Given the description of an element on the screen output the (x, y) to click on. 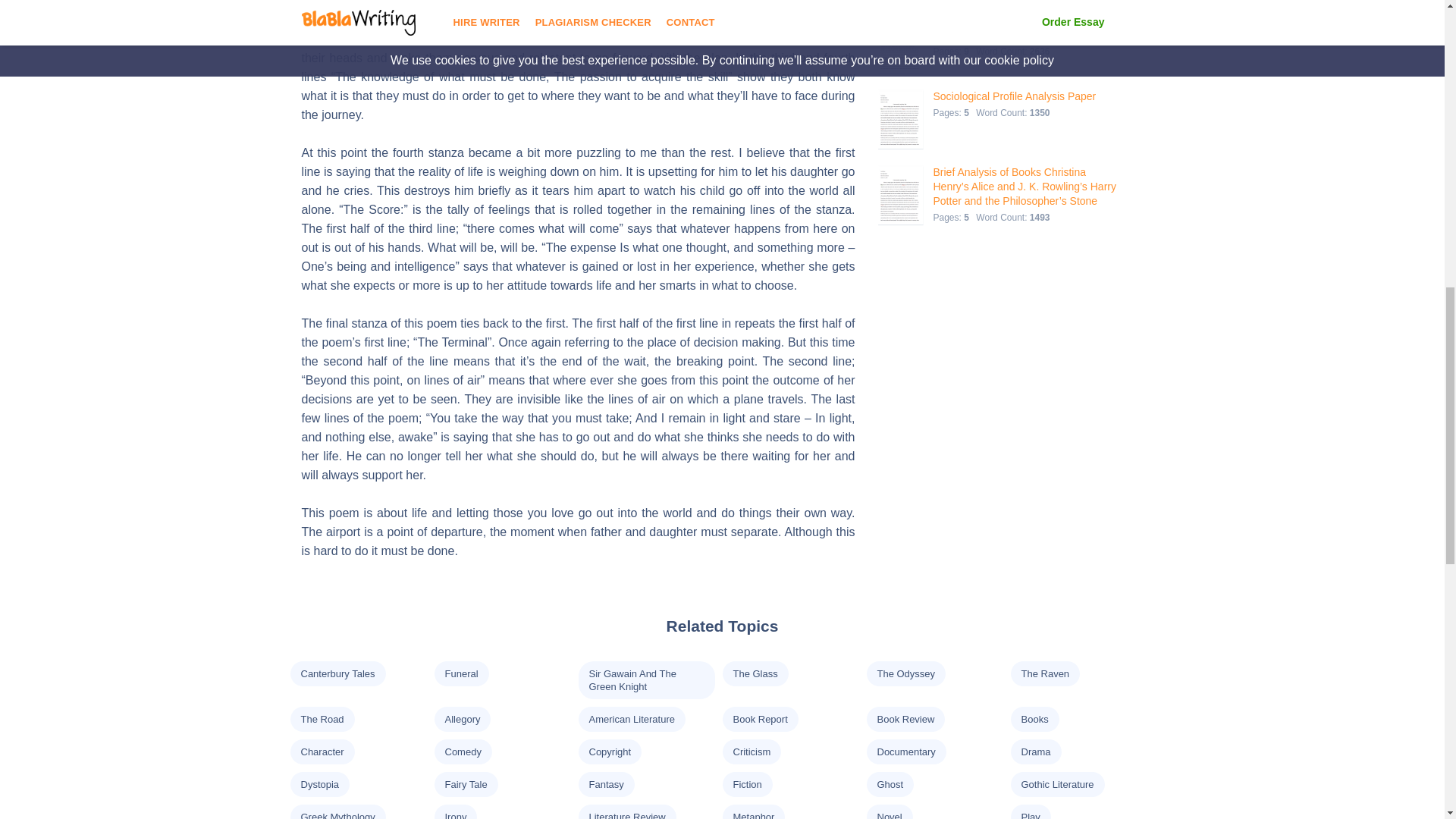
Sir Gawain And The Green Knight (631, 680)
Funeral (460, 673)
The Road (321, 718)
Sociological Profile Analysis Paper (1014, 96)
The Odyssey (905, 673)
The Raven (1044, 673)
Samsung's Operations Management Critical Analysis (1025, 27)
The Glass (754, 673)
Canterbury Tales (336, 673)
